Given the description of an element on the screen output the (x, y) to click on. 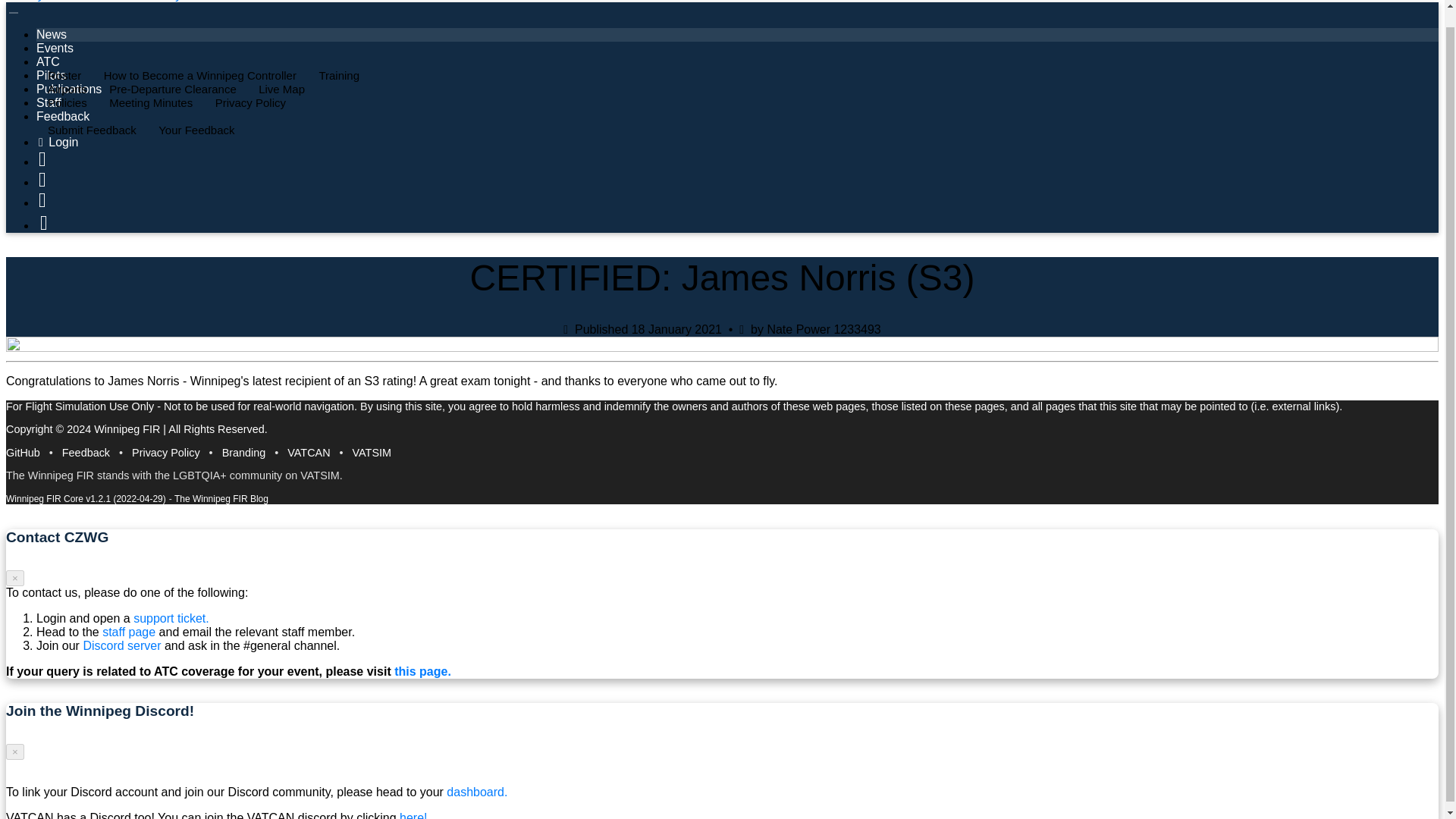
Your Feedback (194, 130)
Branding (244, 452)
Privacy Policy (248, 102)
Meeting Minutes (148, 102)
this page. (422, 671)
Privacy Policy (166, 452)
How to Become a Winnipeg Controller (198, 75)
Feedback (86, 452)
Roster (62, 75)
Discord server (121, 645)
